Given the description of an element on the screen output the (x, y) to click on. 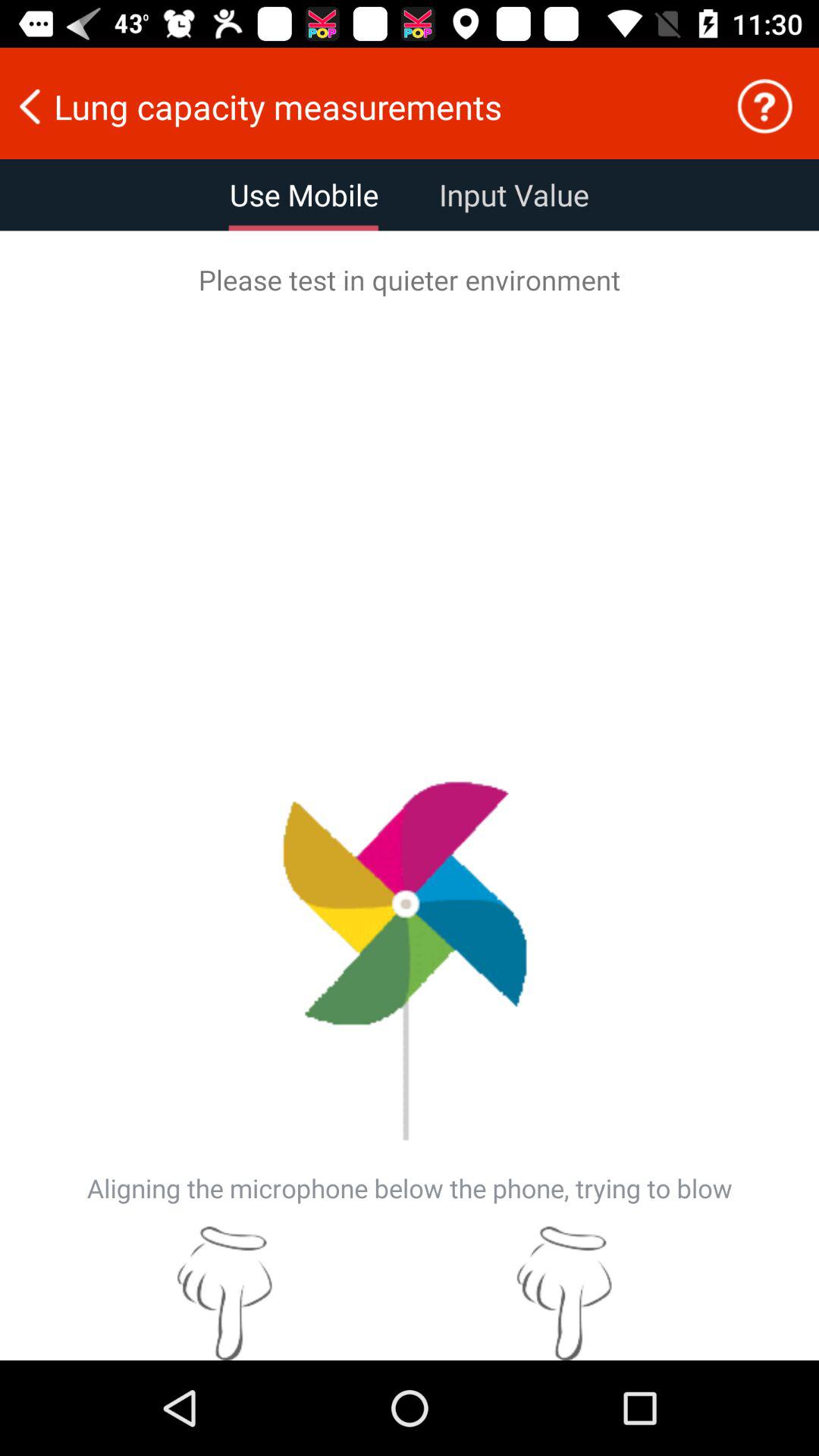
turn on item next to the lung capacity measurements (764, 106)
